Given the description of an element on the screen output the (x, y) to click on. 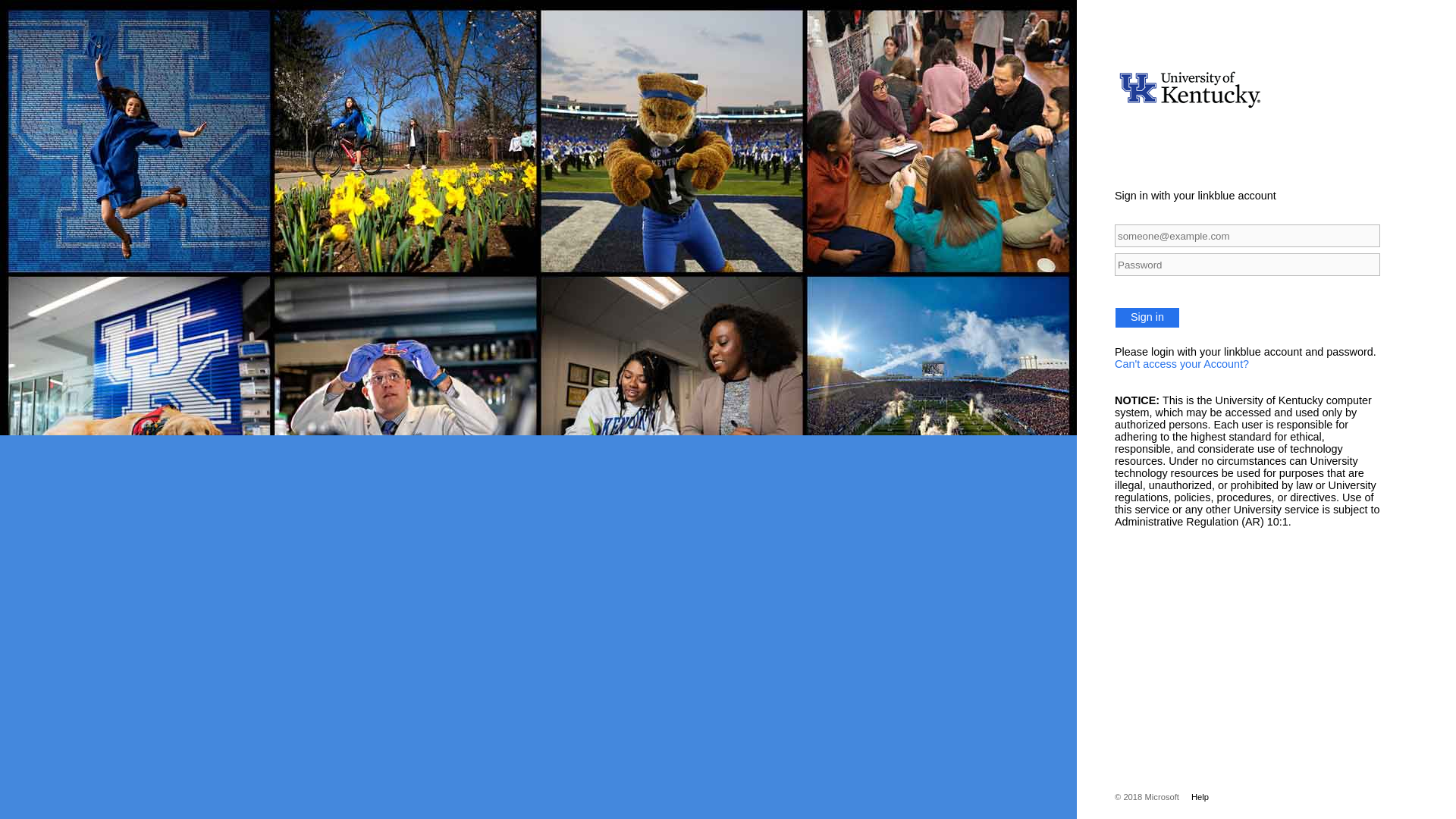
Help (1193, 796)
Can't access your Account? (1182, 363)
